Given the description of an element on the screen output the (x, y) to click on. 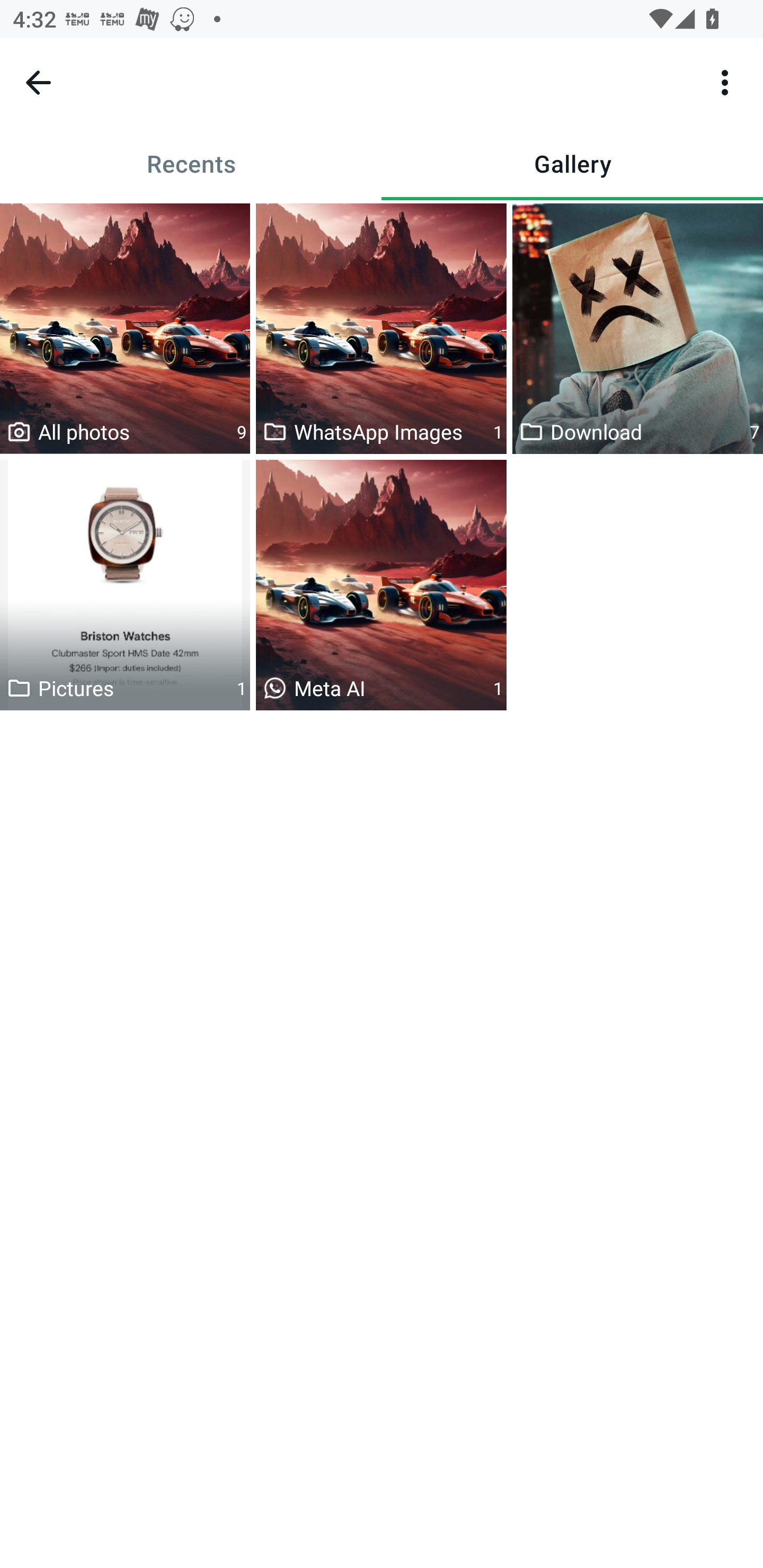
Back (38, 82)
More (724, 81)
Recents (190, 163)
All photos 9 (125, 328)
WhatsApp Images 1 (380, 328)
Download 7 (637, 328)
Pictures 1 (125, 584)
Meta AI 1 (380, 584)
